Given the description of an element on the screen output the (x, y) to click on. 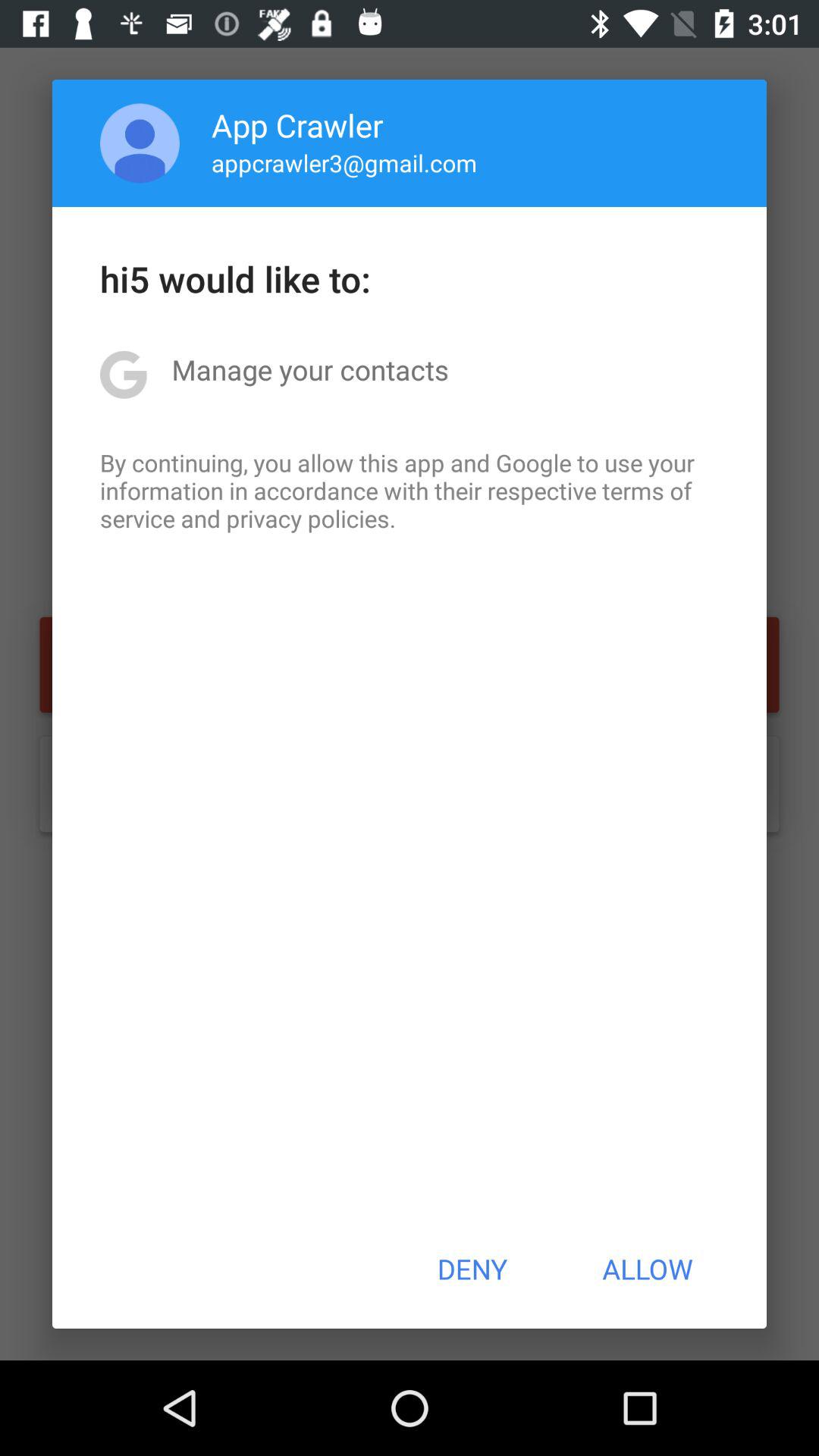
select the manage your contacts icon (309, 369)
